Given the description of an element on the screen output the (x, y) to click on. 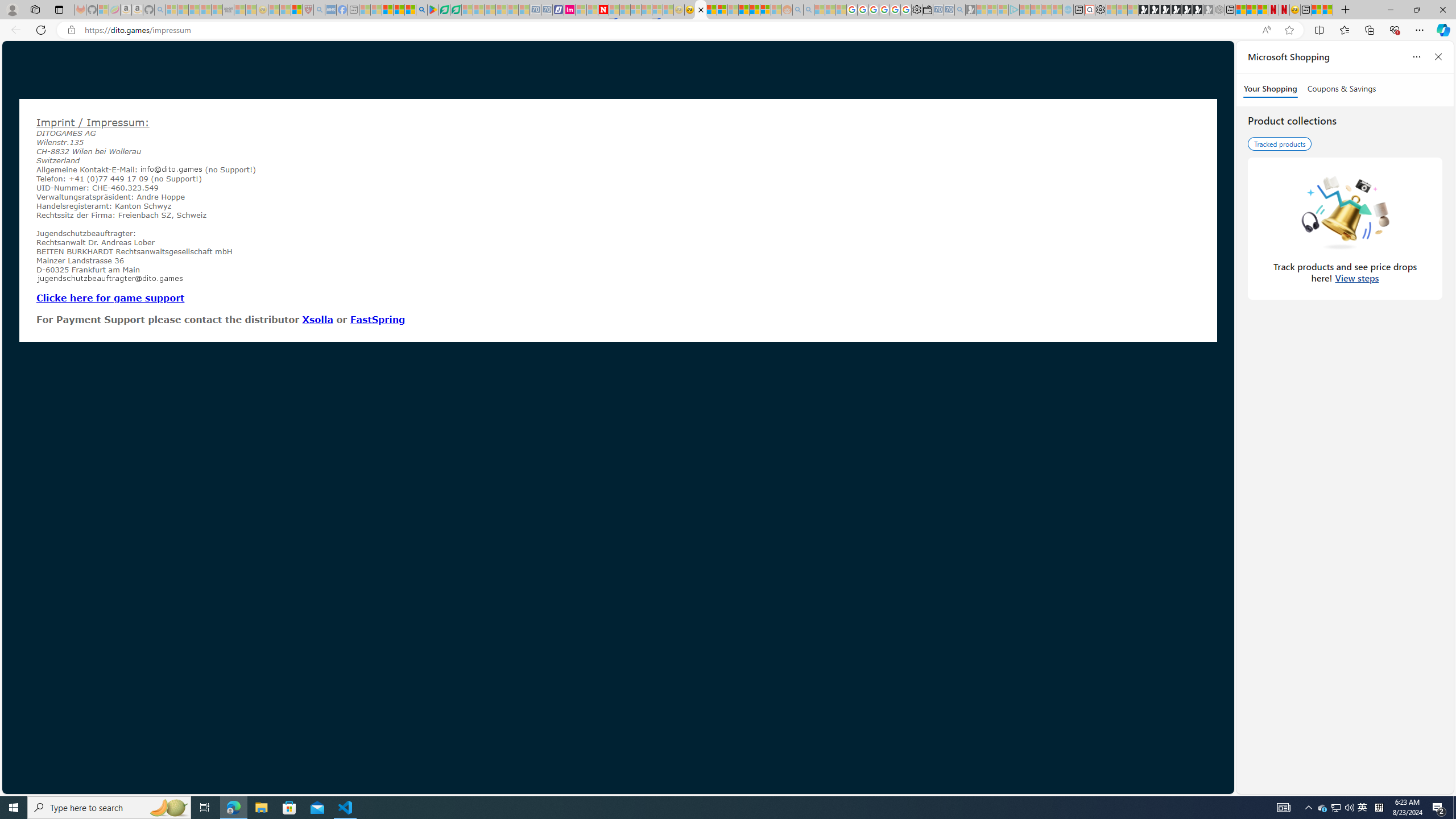
Xsolla (317, 319)
Utah sues federal government - Search - Sleeping (807, 9)
Recipes - MSN - Sleeping (273, 9)
Microsoft Word - consumer-privacy address update 2.2021 (455, 9)
Microsoft account | Privacy (721, 9)
